Given the description of an element on the screen output the (x, y) to click on. 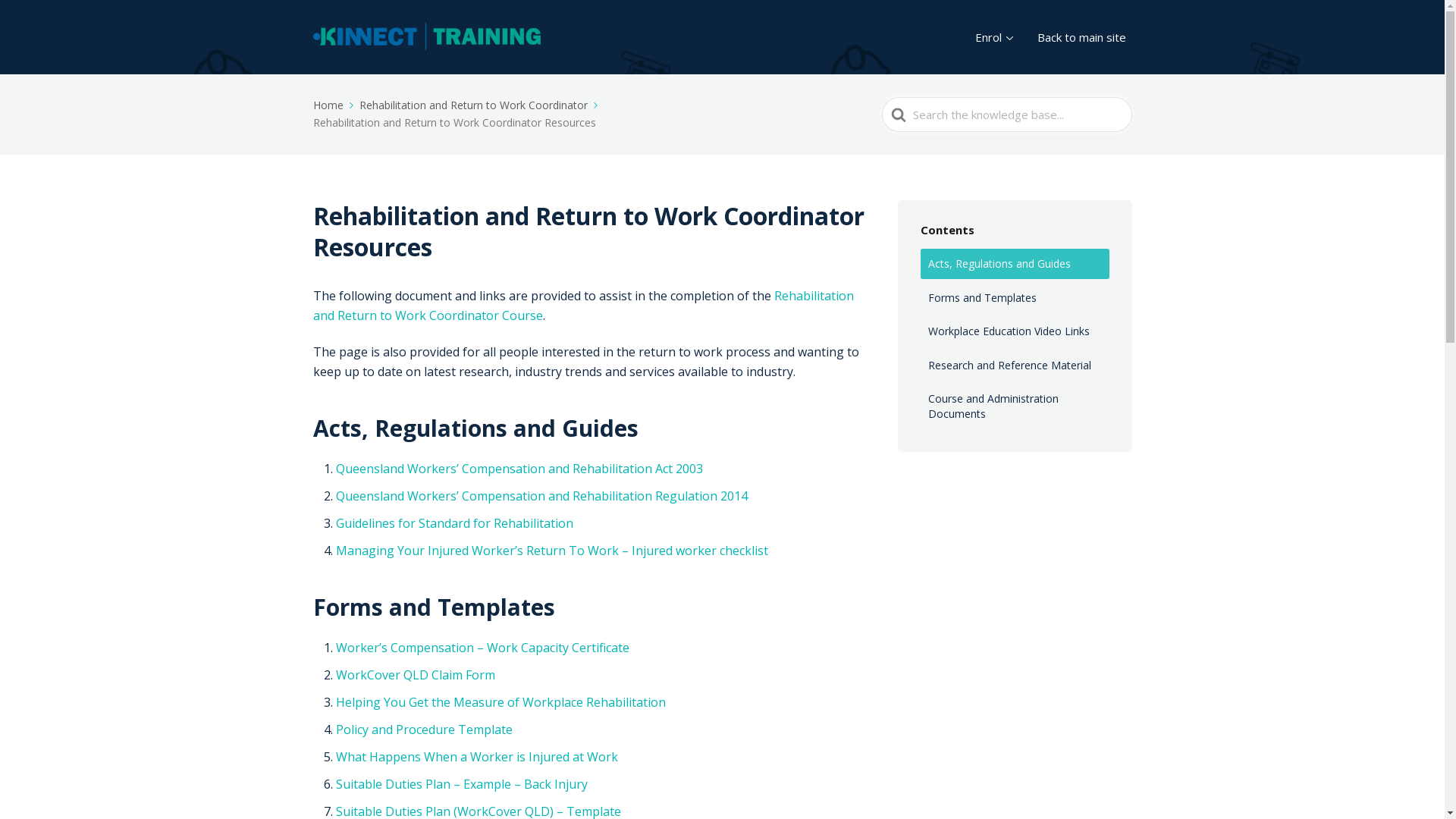
What Happens When a Worker is Injured at Work Element type: text (476, 756)
Enrol Element type: text (994, 37)
WorkCover QLD Claim Form Element type: text (414, 674)
Helping You Get the Measure of Workplace Rehabilitation Element type: text (500, 701)
Policy and Procedure Template Element type: text (423, 729)
Back to main site Element type: text (1081, 37)
Guidelines for Standard for Rehabilitation Element type: text (453, 522)
Research and Reference Material Element type: text (1014, 365)
Rehabilitation and Return to Work Coordinator Course Element type: text (582, 305)
Home Element type: text (333, 104)
Workplace Education Video Links Element type: text (1014, 331)
Acts, Regulations and Guides Element type: text (1014, 263)
Rehabilitation and Return to Work Coordinator Element type: text (479, 104)
Course and Administration Documents Element type: text (1014, 405)
Forms and Templates Element type: text (1014, 297)
